Given the description of an element on the screen output the (x, y) to click on. 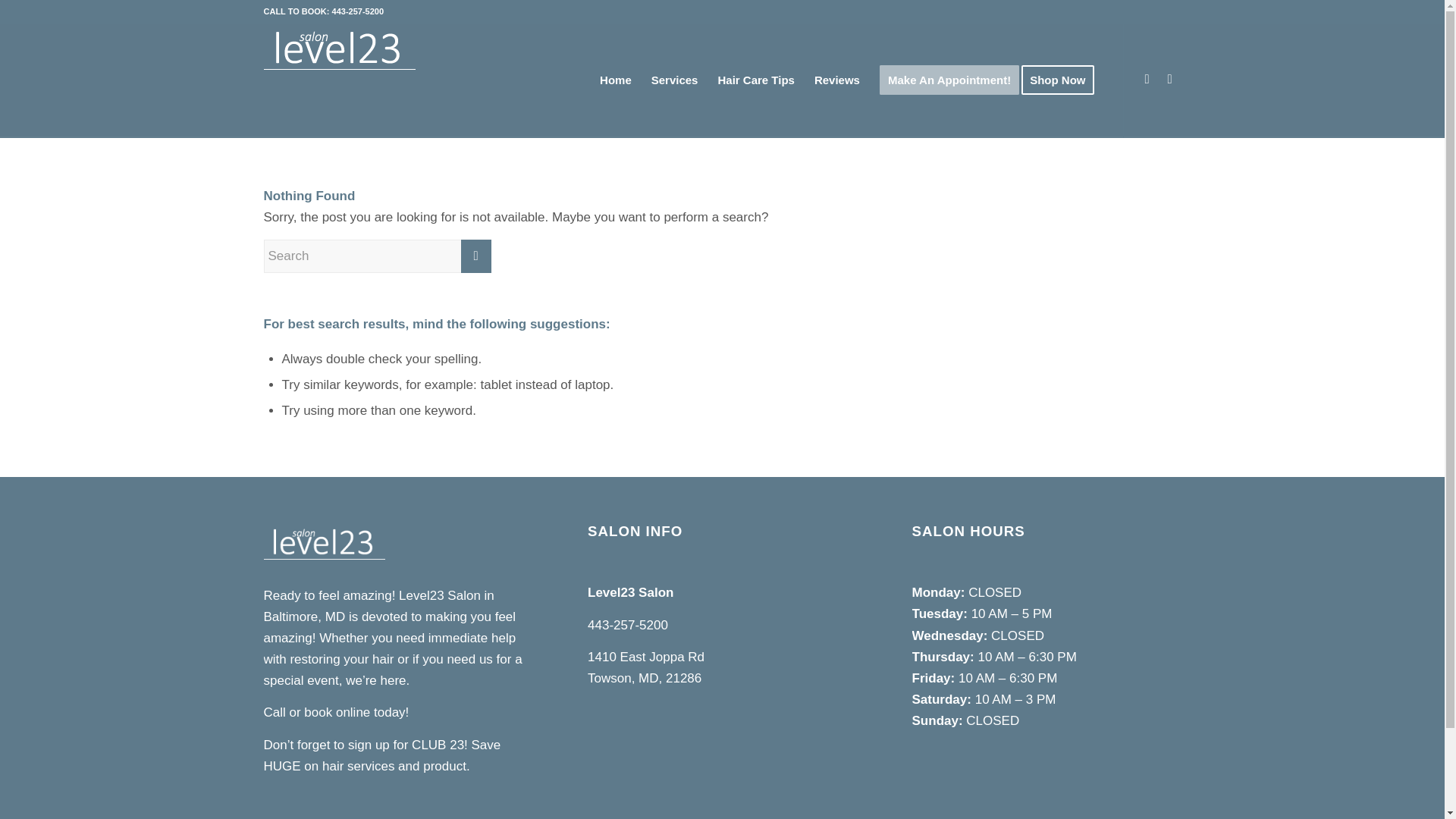
Facebook (1169, 78)
Instagram (1146, 78)
Make An Appointment! (949, 80)
logo (338, 53)
